Given the description of an element on the screen output the (x, y) to click on. 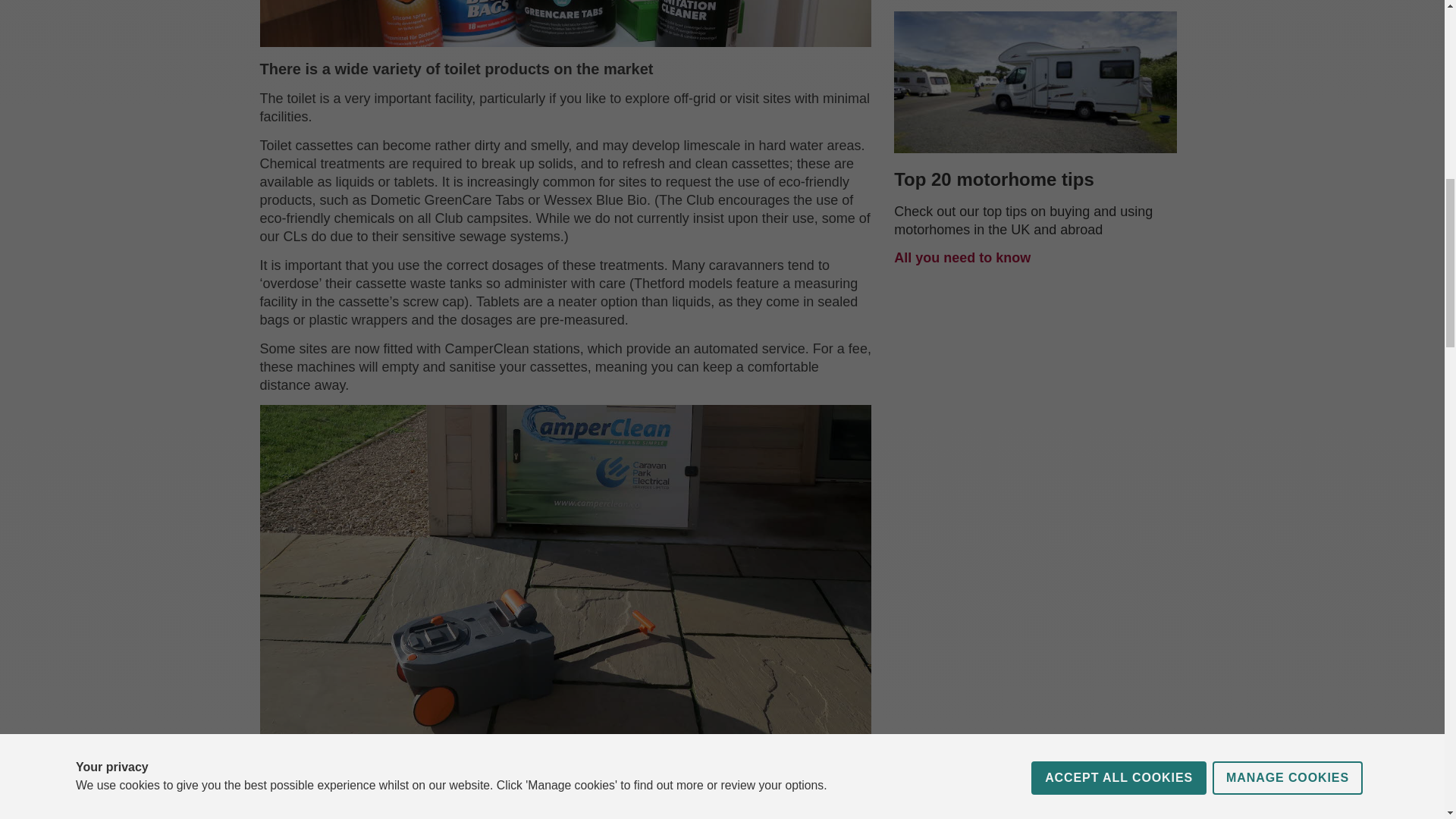
ACCEPT ALL COOKIES (1118, 24)
MANAGE COOKIES (1287, 17)
